Given the description of an element on the screen output the (x, y) to click on. 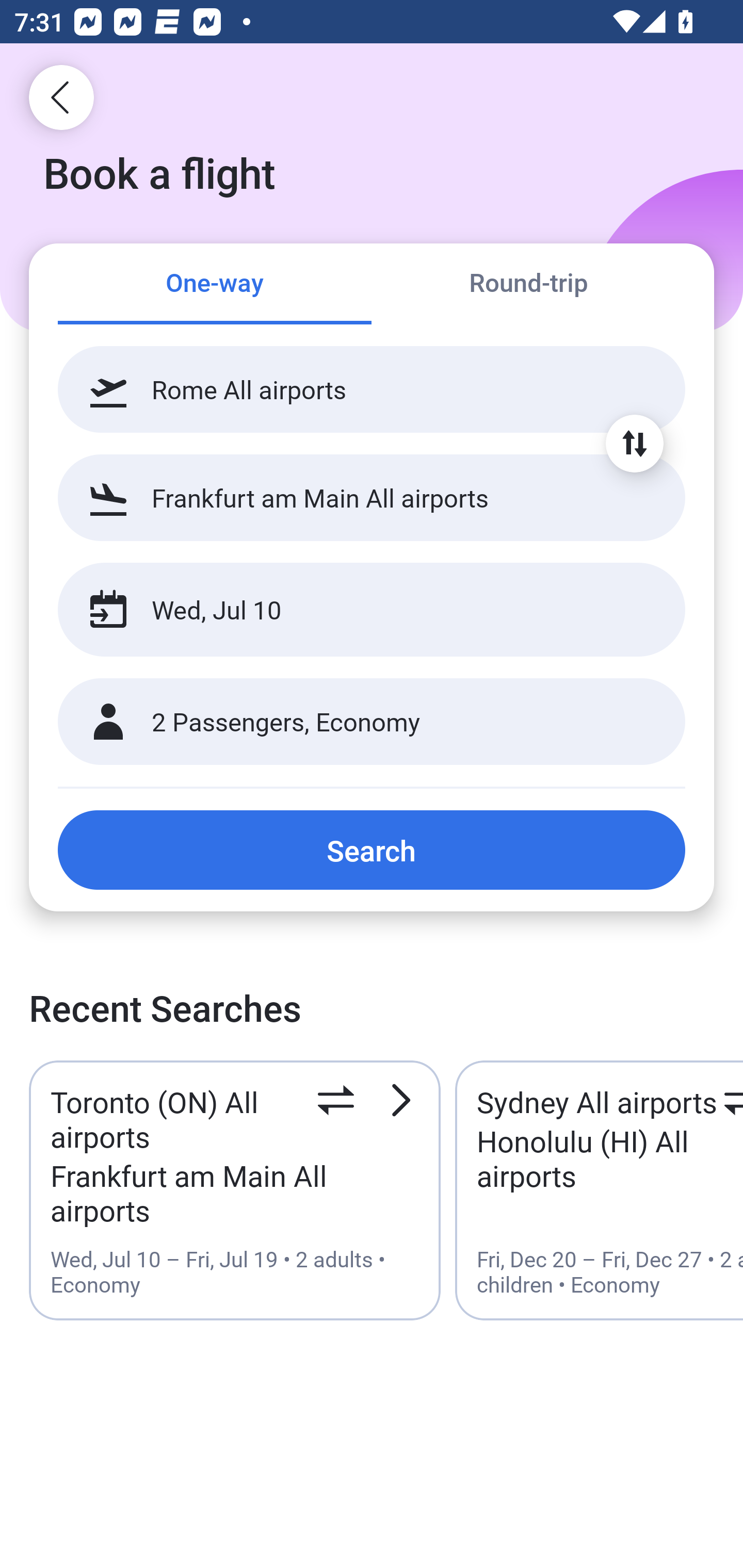
Round-trip (528, 284)
Rome All airports (371, 389)
Frankfurt am Main All airports (371, 497)
Wed, Jul 10 (349, 609)
2 Passengers, Economy (371, 721)
Search (371, 849)
